Given the description of an element on the screen output the (x, y) to click on. 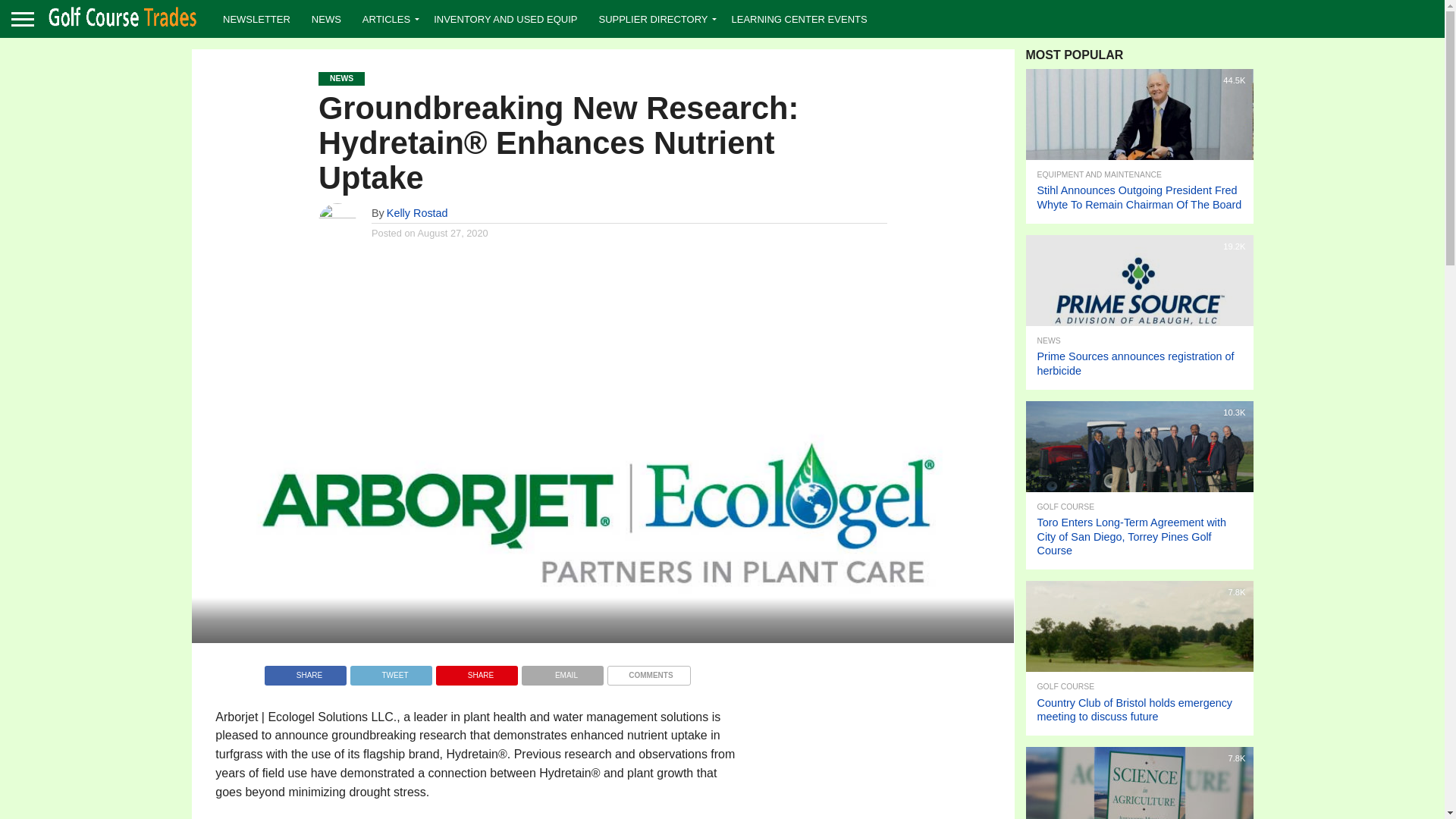
Share on Facebook (305, 671)
NEWSLETTER (256, 18)
Posts by Kelly Rostad (417, 213)
NEWS (326, 18)
INVENTORY AND USED EQUIP (505, 18)
ARTICLES (387, 18)
SUPPLIER DIRECTORY (654, 18)
Pin This Post (476, 671)
Tweet This Post (390, 671)
